Given the description of an element on the screen output the (x, y) to click on. 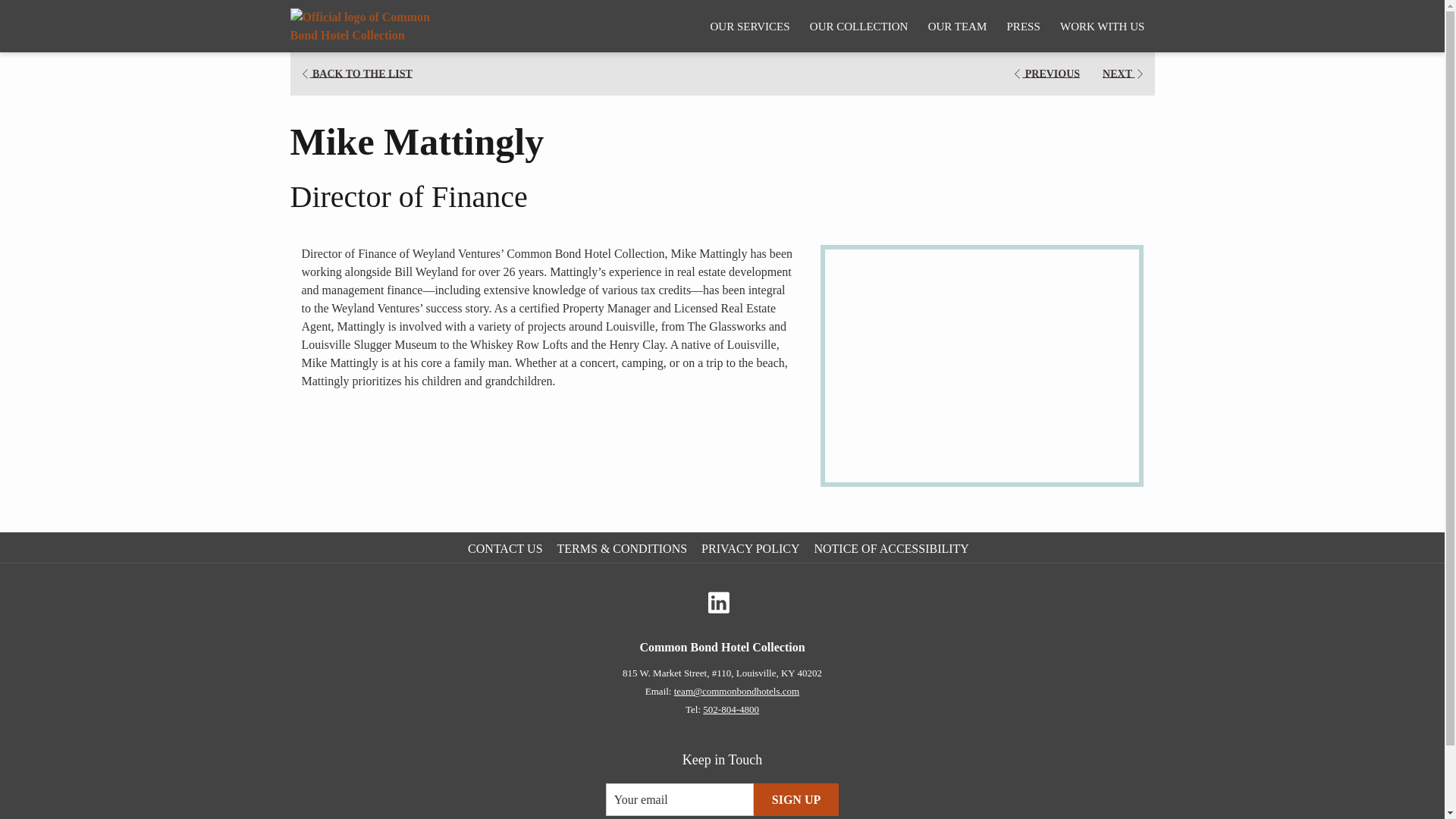
OUR SERVICES (749, 26)
502-804-4800 (730, 708)
PRIVACY POLICY (752, 548)
OUR COLLECTION (858, 26)
NOTICE OF ACCESSIBILITY (892, 548)
Back to the homepage (370, 25)
CONTACT US (506, 548)
PREVIOUS (1046, 74)
BACK TO THE LIST (355, 74)
NEXT (1123, 74)
